Given the description of an element on the screen output the (x, y) to click on. 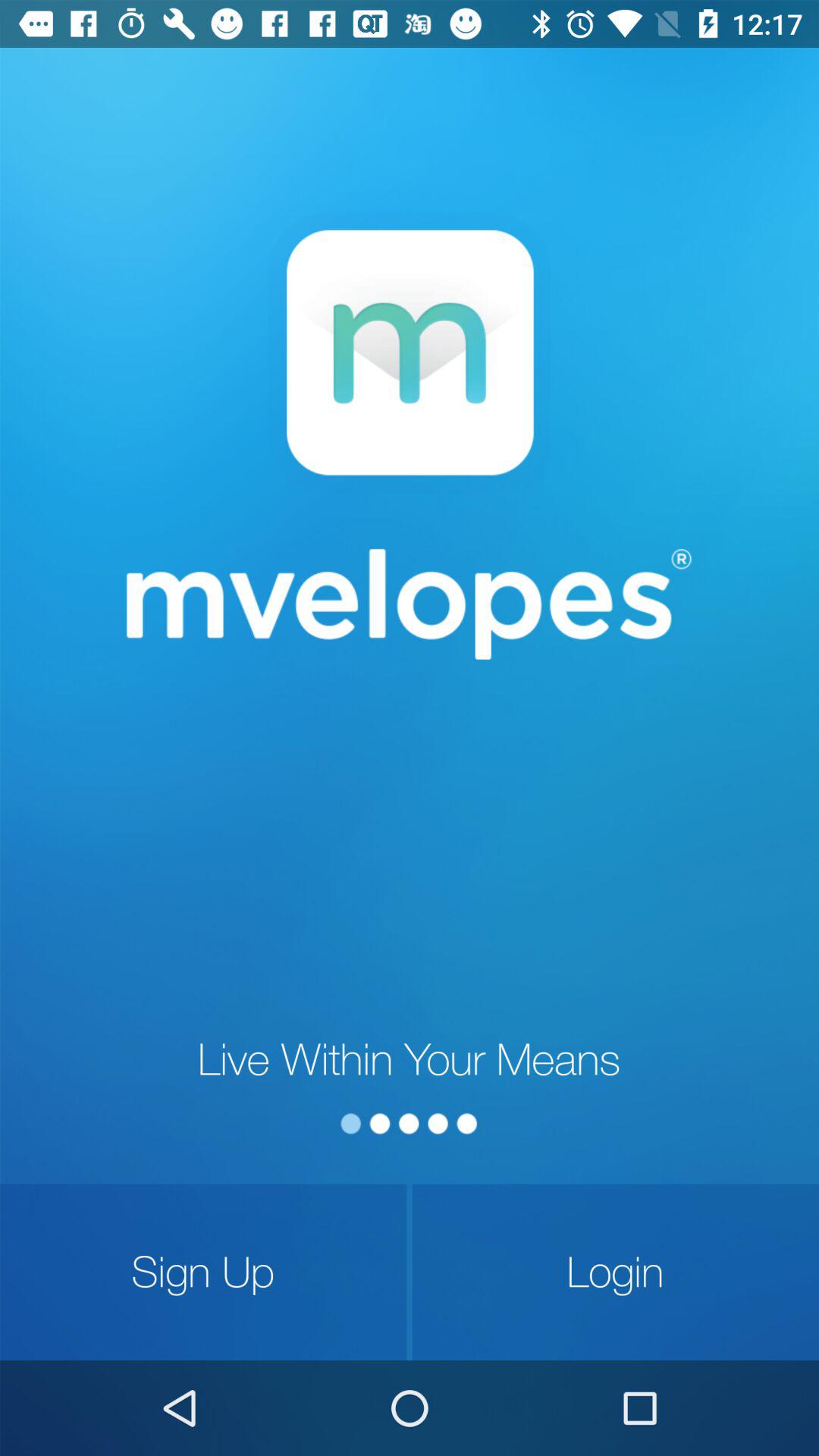
scroll until the login icon (615, 1272)
